Given the description of an element on the screen output the (x, y) to click on. 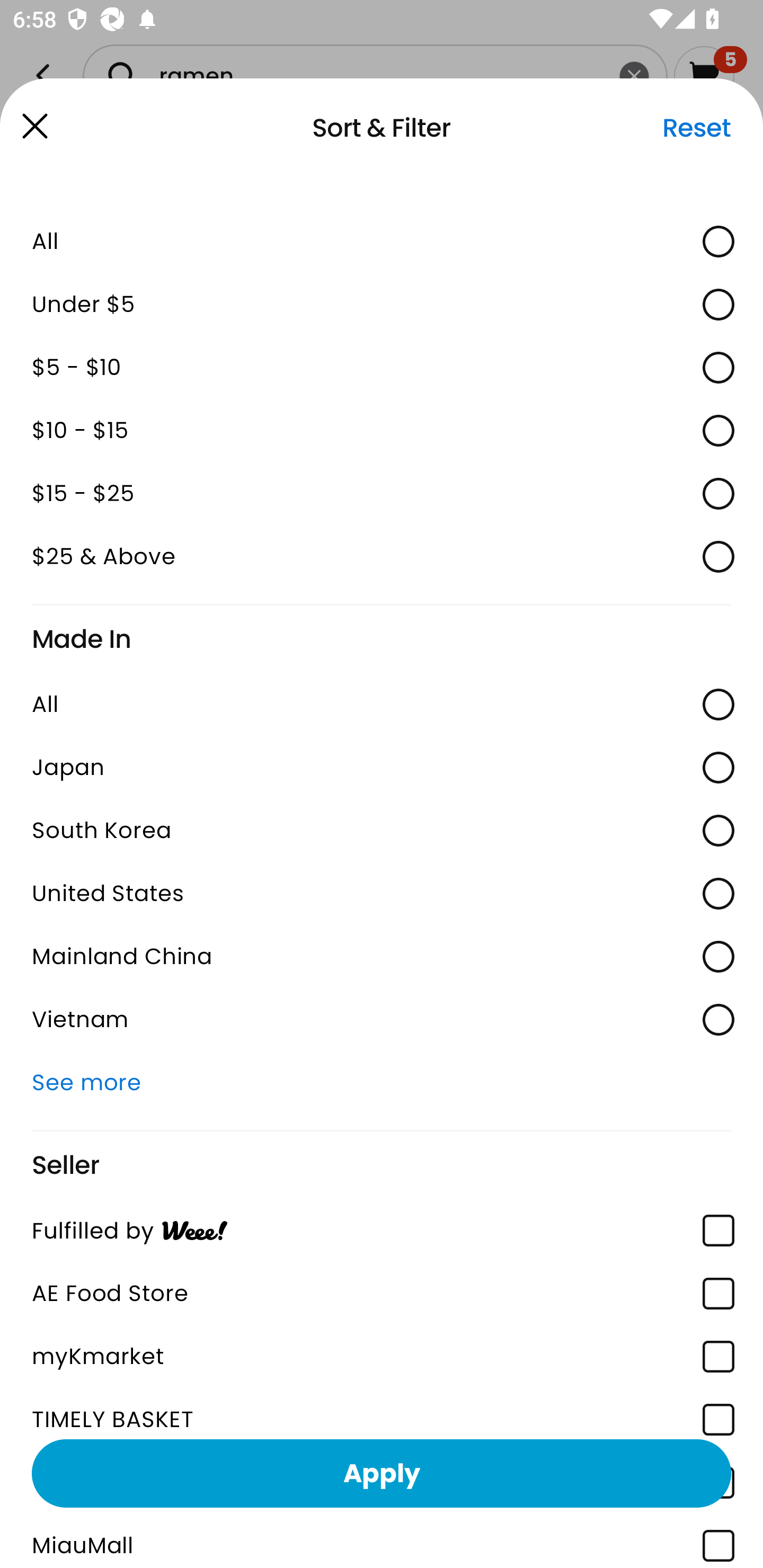
Reset (696, 127)
See more (381, 1081)
Apply (381, 1472)
